Given the description of an element on the screen output the (x, y) to click on. 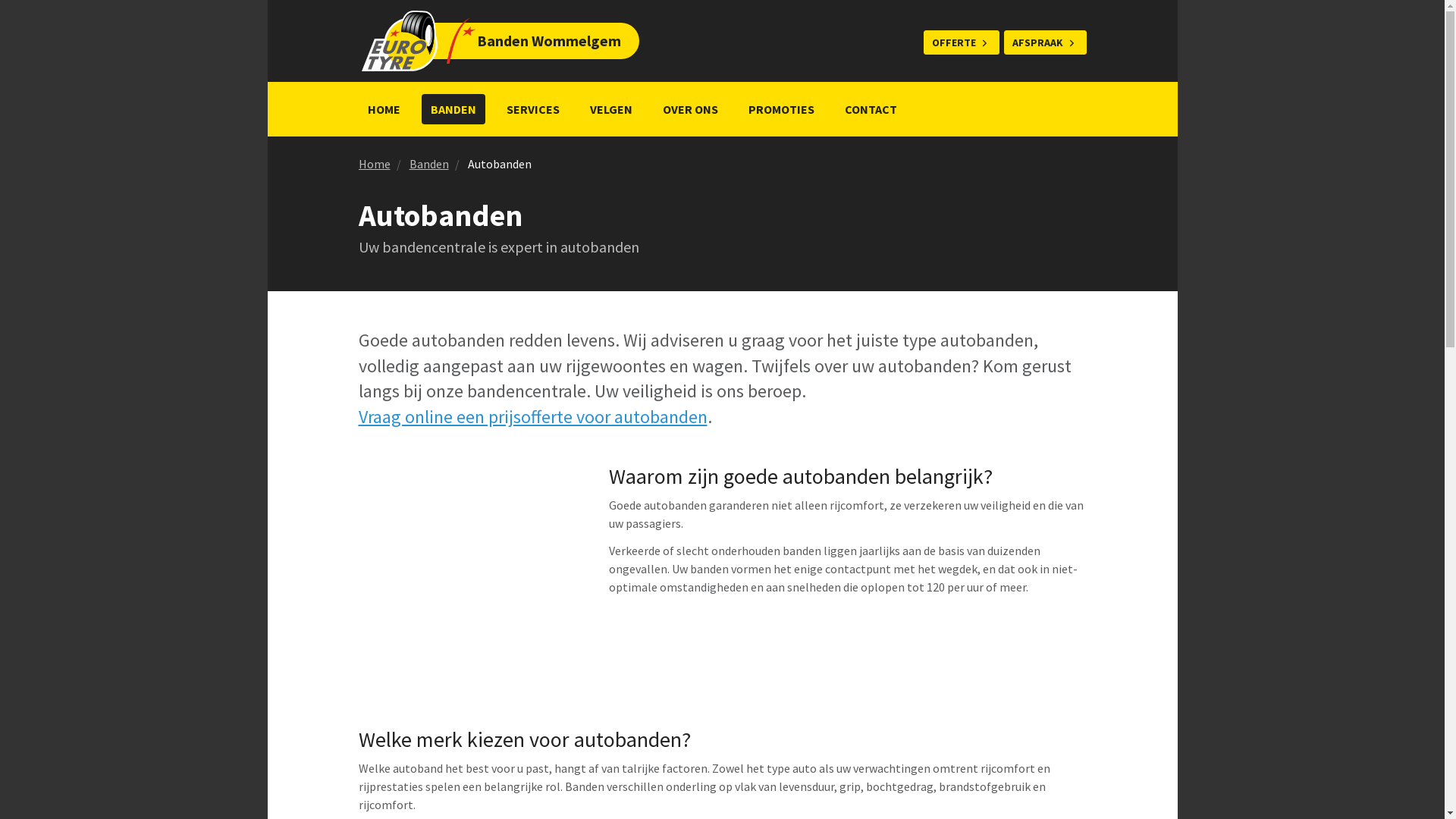
OVER ONS Element type: text (690, 109)
OFFERTE Element type: text (961, 42)
BANDEN Element type: text (453, 109)
Home Element type: text (373, 163)
SERVICES Element type: text (532, 109)
Banden Wommelgem Element type: text (475, 40)
HOME Element type: text (382, 109)
Banden Element type: text (428, 163)
Vraag online een prijsofferte voor autobanden Element type: text (531, 416)
CONTACT Element type: text (870, 109)
AFSPRAAK Element type: text (1045, 42)
VELGEN Element type: text (610, 109)
Autobanden Element type: text (498, 163)
PROMOTIES Element type: text (780, 109)
